Given the description of an element on the screen output the (x, y) to click on. 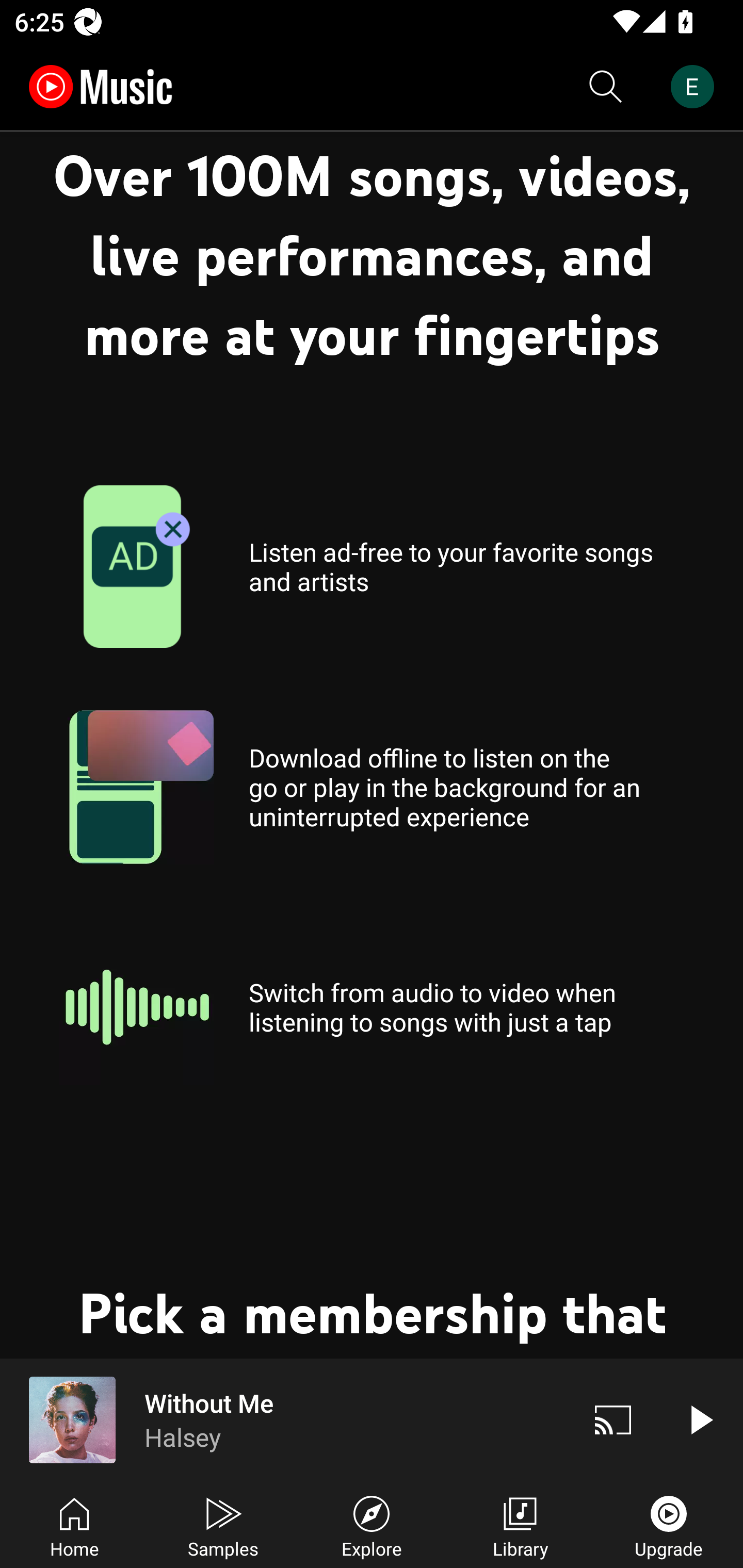
Search (605, 86)
Account (696, 86)
Without Me Halsey (284, 1419)
Cast. Disconnected (612, 1419)
Play video (699, 1419)
Home (74, 1524)
Samples (222, 1524)
Explore (371, 1524)
Library (519, 1524)
Upgrade (668, 1524)
